Given the description of an element on the screen output the (x, y) to click on. 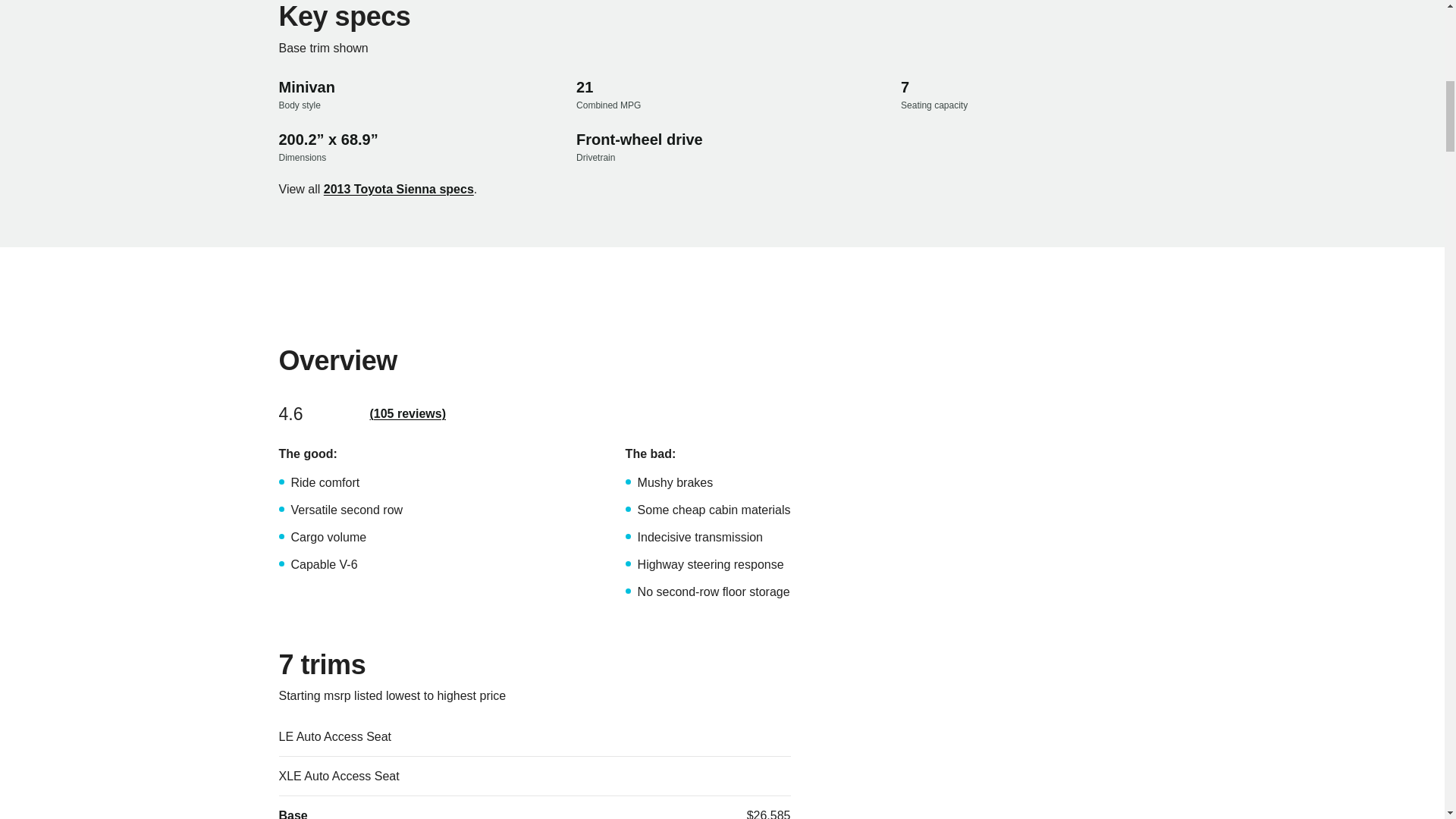
2013 Toyota Sienna specs (398, 189)
Base (293, 812)
